Given the description of an element on the screen output the (x, y) to click on. 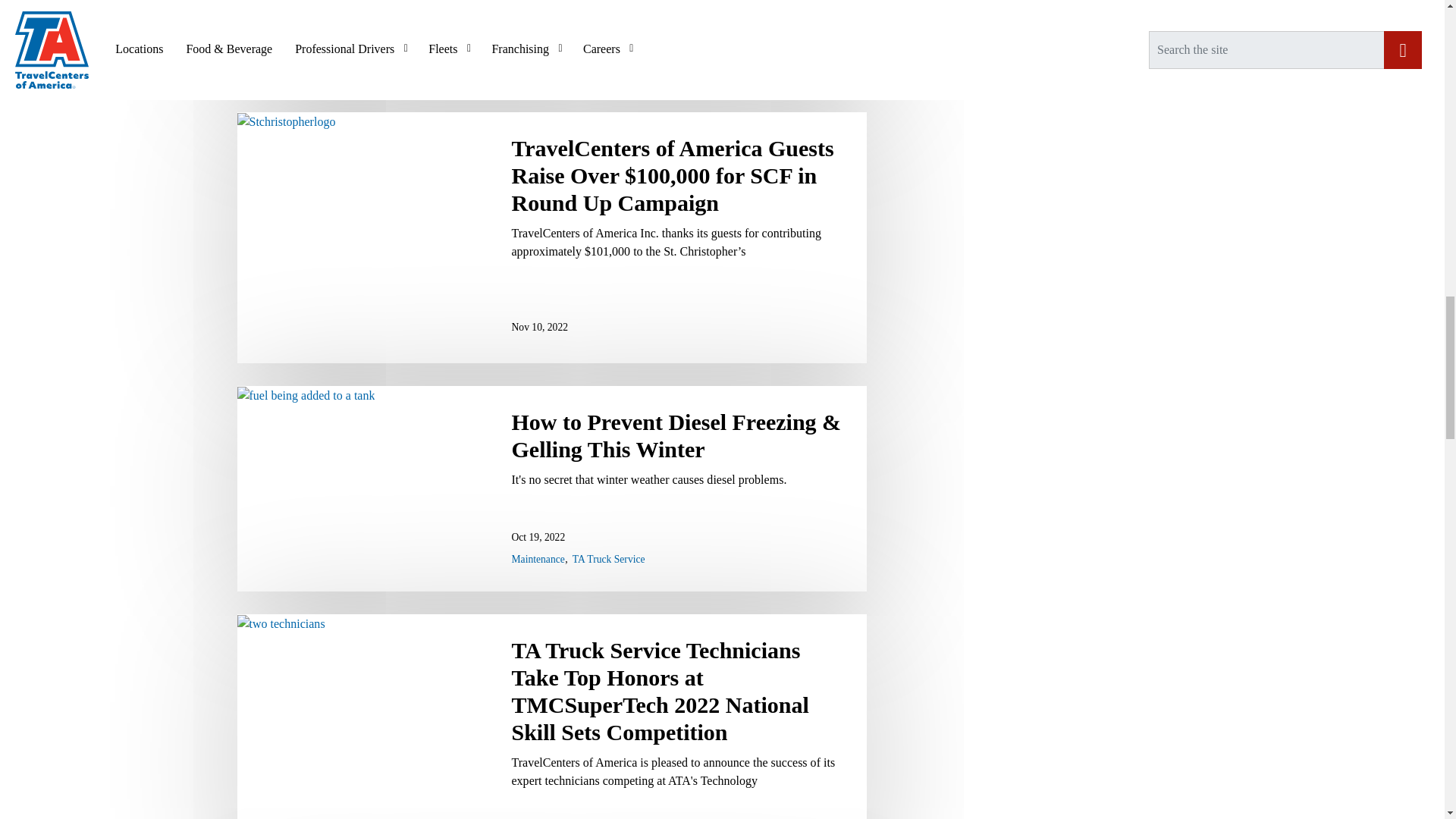
Maintenance (537, 559)
TA Truck Service (608, 559)
TA Truck Service (608, 559)
Maintenance (537, 559)
